Given the description of an element on the screen output the (x, y) to click on. 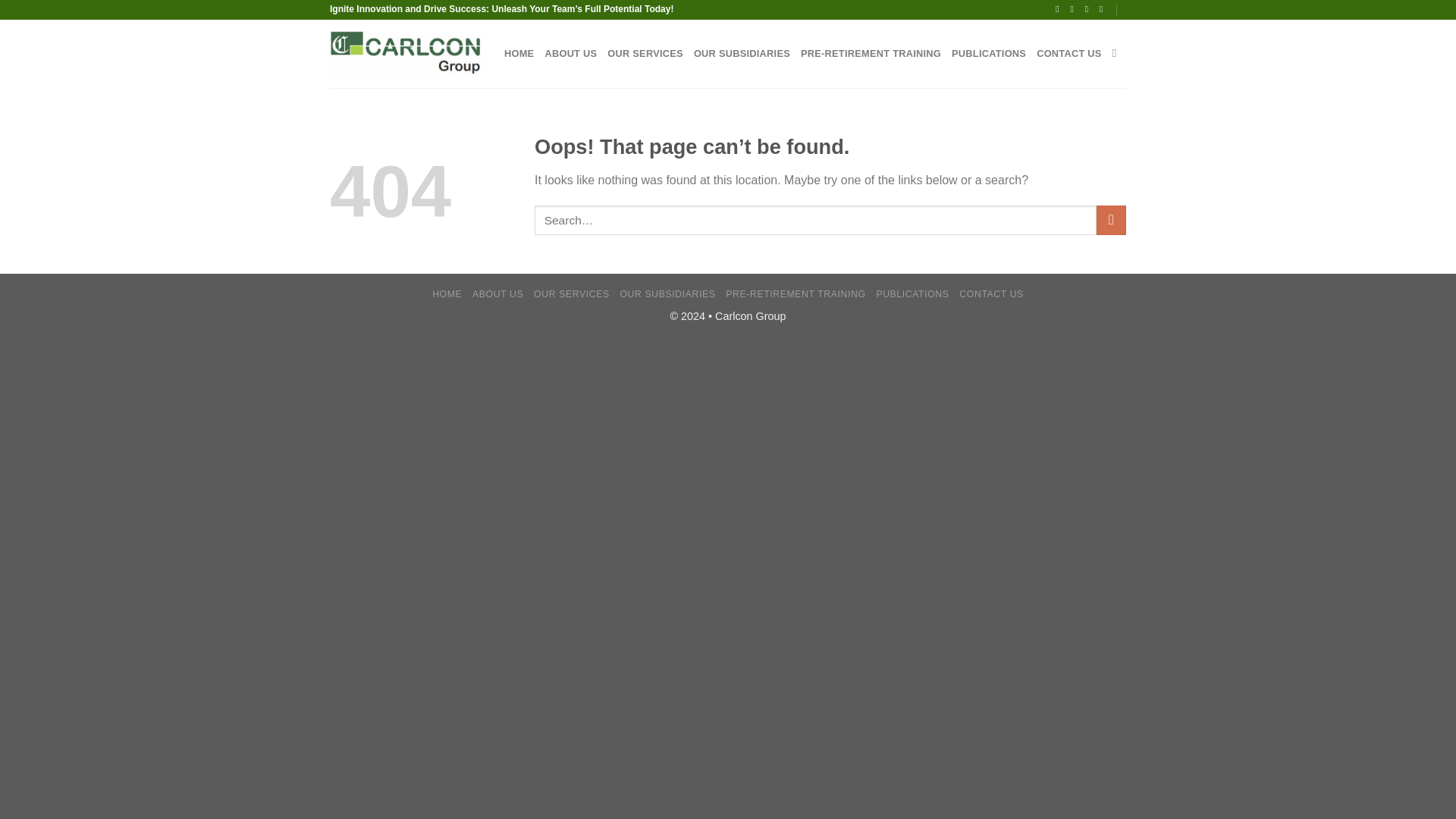
OUR SERVICES (572, 294)
PRE-RETIREMENT TRAINING (794, 294)
ABOUT US (496, 294)
OUR SUBSIDIARIES (667, 294)
HOME (446, 294)
HOME (518, 53)
PUBLICATIONS (989, 53)
CONTACT US (1069, 53)
PRE-RETIREMENT TRAINING (870, 53)
OUR SERVICES (644, 53)
